Given the description of an element on the screen output the (x, y) to click on. 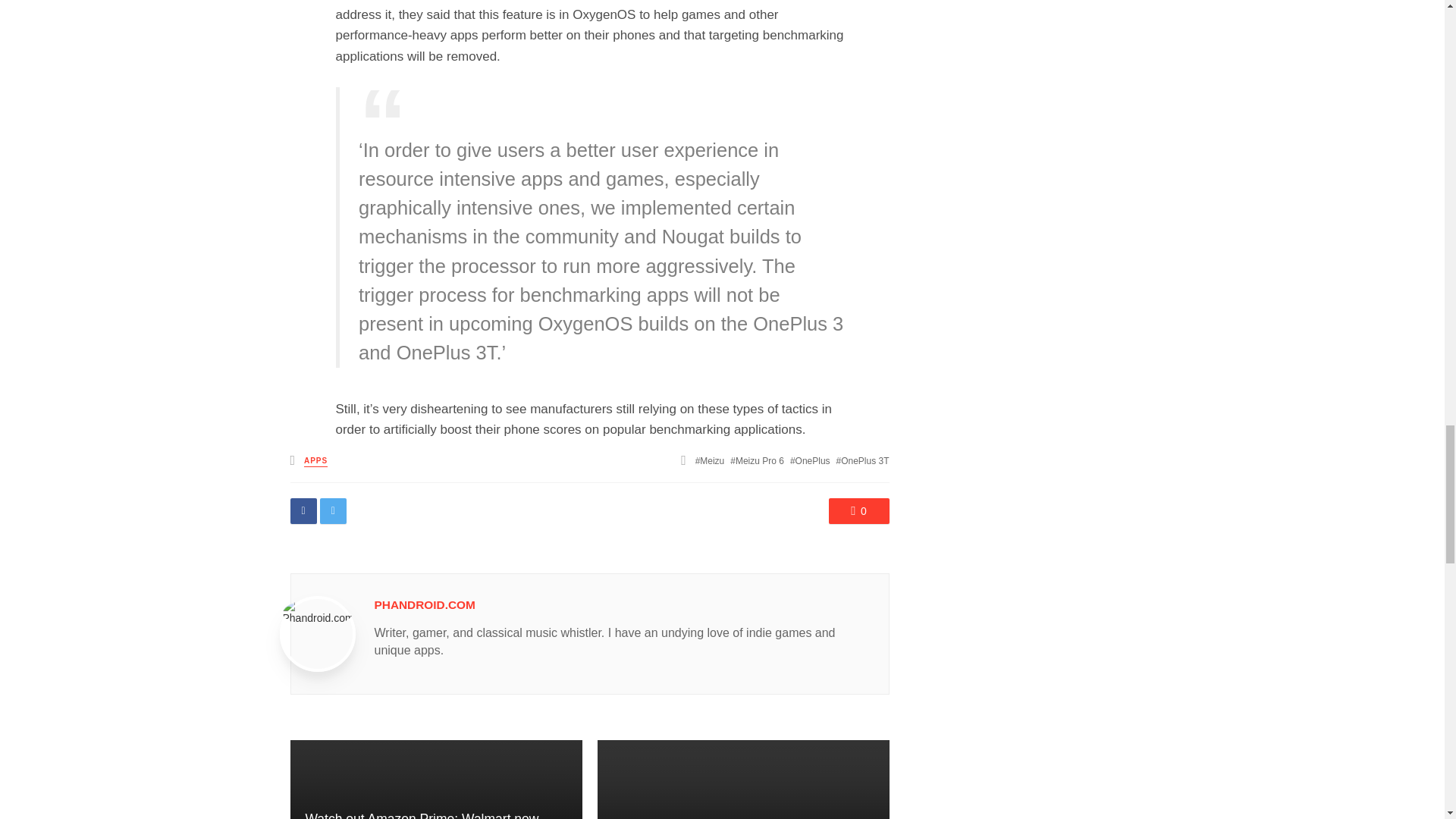
PHANDROID.COM (425, 604)
APPS (315, 460)
OnePlus 3T (862, 460)
Share on Twitter (333, 510)
Meizu Pro 6 (757, 460)
OnePlus (809, 460)
0 Comments (858, 510)
Posts by Phandroid.com (425, 604)
Share on Facebook (302, 510)
0 (858, 510)
